Given the description of an element on the screen output the (x, y) to click on. 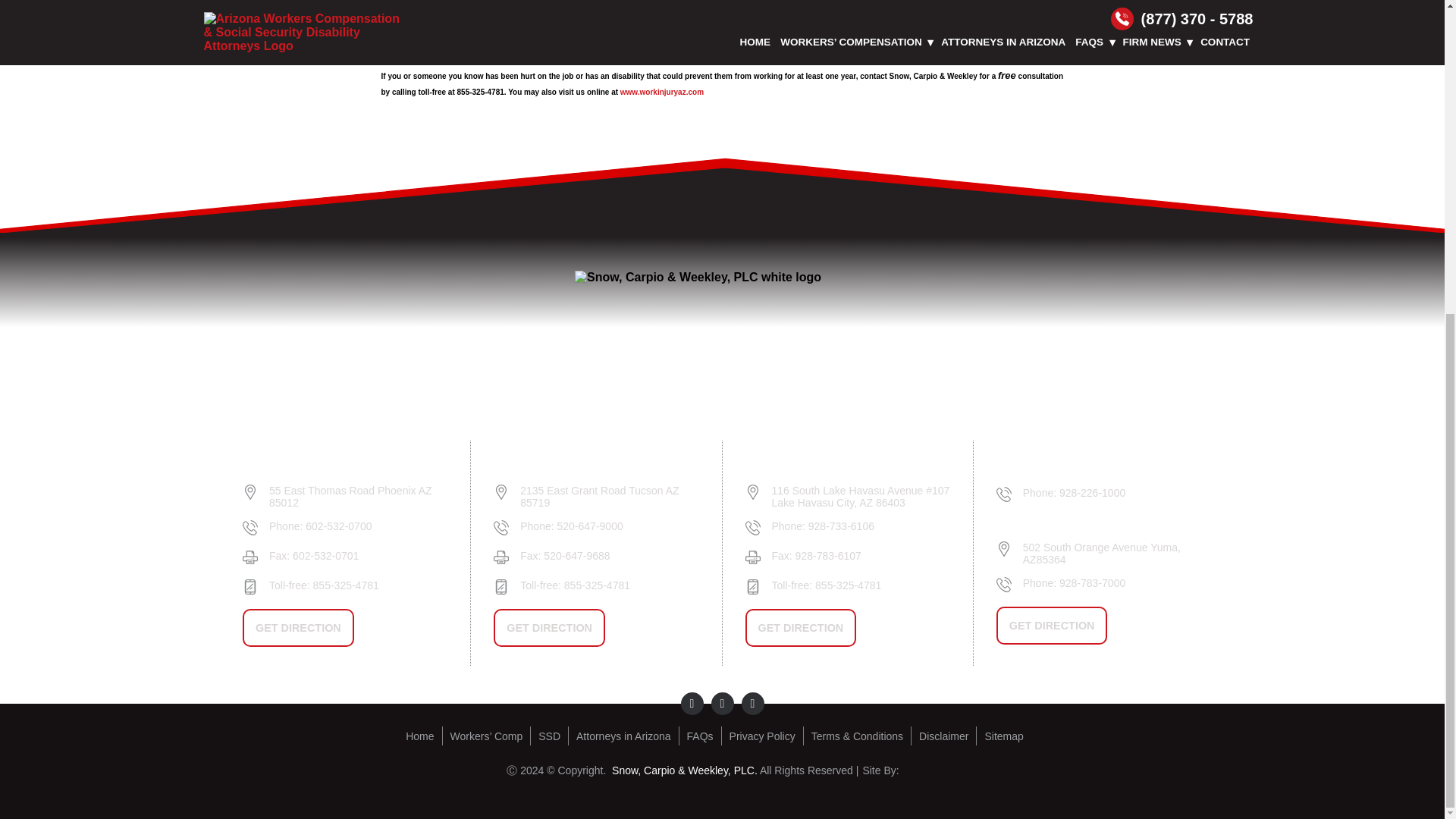
Toll-free: 855-325-4781 (608, 585)
www.workinjuryaz.com (661, 91)
Phone: 520-647-9000 (608, 526)
Toll-free: 855-325-4781 (357, 585)
GET DIRECTION (549, 628)
Arizona Social Security Disability (552, 736)
55 East Thomas Road Phoenix AZ 85012 (357, 496)
Phone: 602-532-0700 (357, 526)
2135 East Grant Road Tucson AZ 85719 (608, 496)
GET DIRECTION (298, 628)
